Given the description of an element on the screen output the (x, y) to click on. 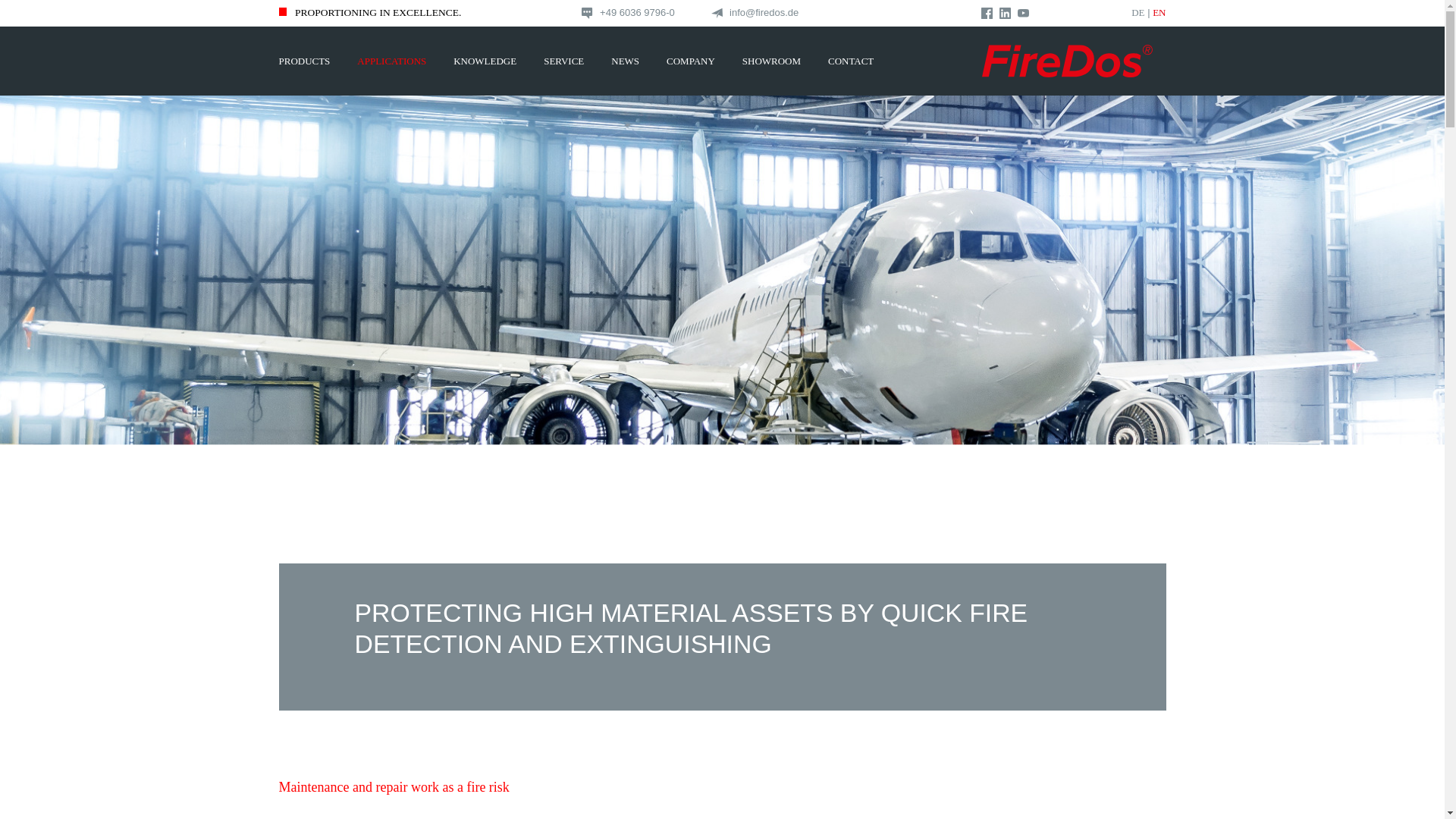
DE (1137, 12)
PRODUCTS (303, 61)
KNOWLEDGE (484, 61)
SERVICE (562, 61)
EN (1159, 12)
APPLICATIONS (391, 61)
